Given the description of an element on the screen output the (x, y) to click on. 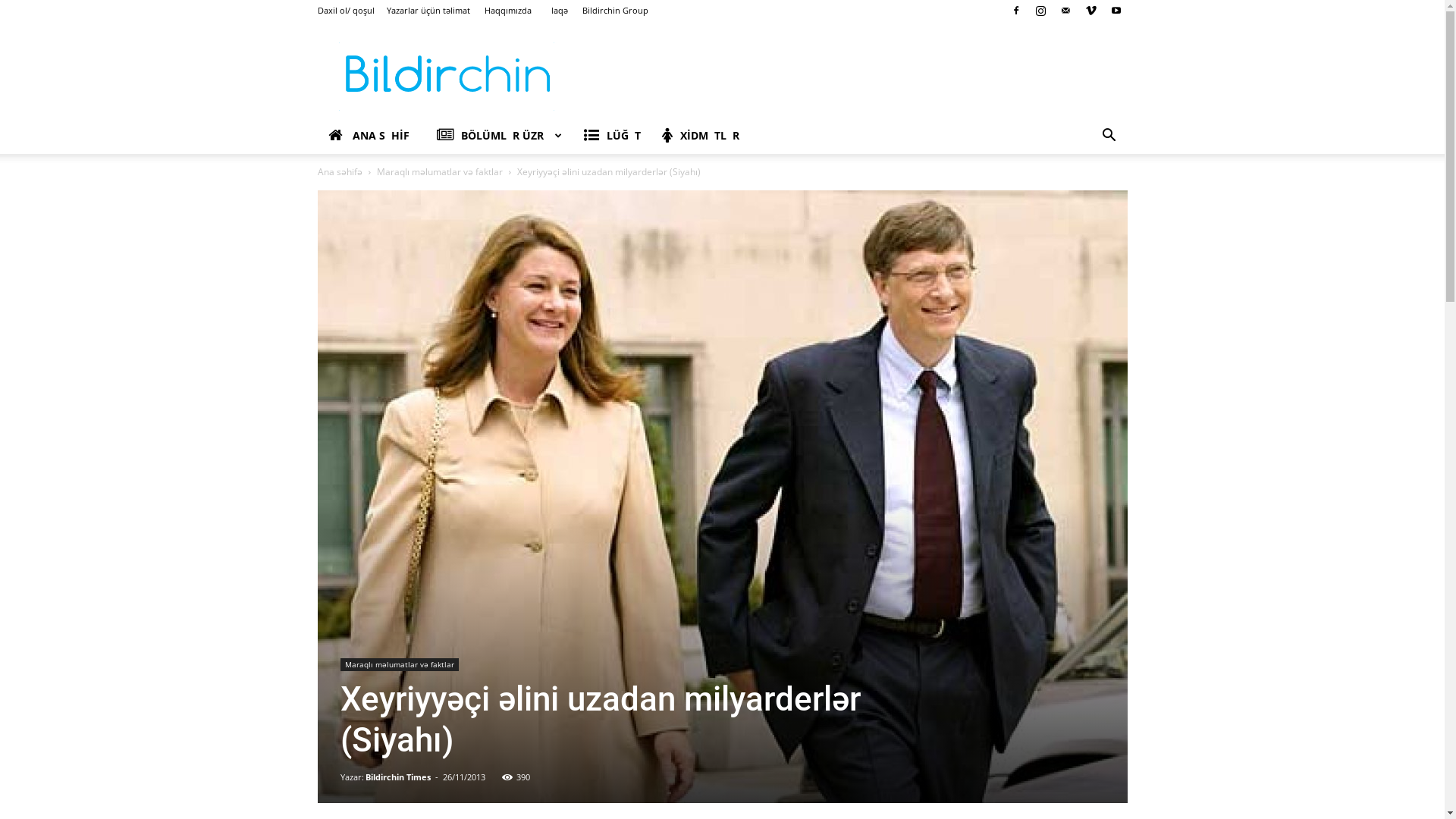
Vimeo Element type: hover (1090, 10)
melinda-gates-726943 Element type: hover (721, 496)
Bildirchin Group Element type: text (615, 9)
Instagram Element type: hover (1040, 10)
Youtube Element type: hover (1115, 10)
Facebook Element type: hover (1015, 10)
Search Element type: text (1085, 196)
Bildirchin Times Element type: text (397, 776)
Mail Element type: hover (1065, 10)
